Given the description of an element on the screen output the (x, y) to click on. 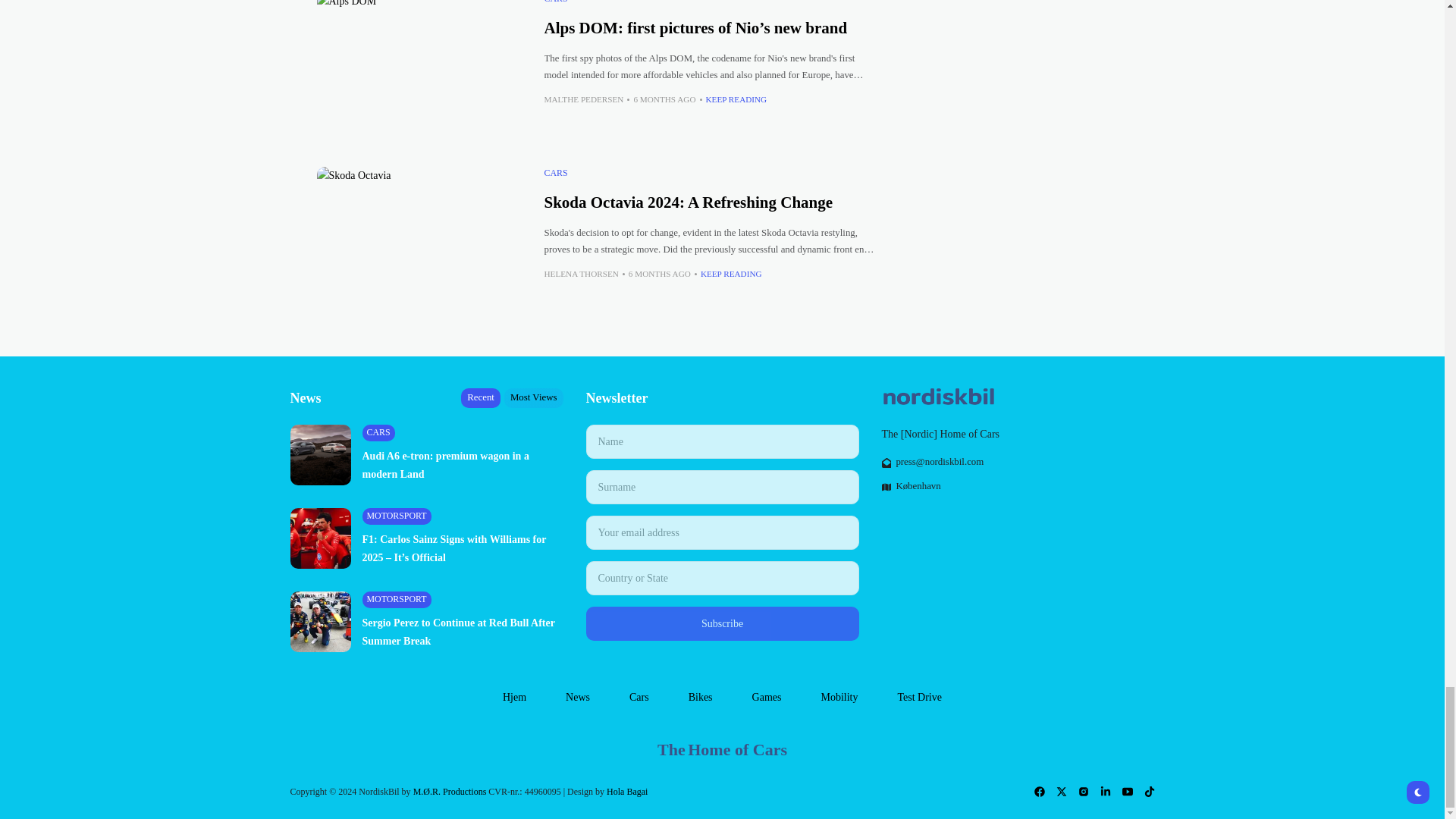
Subscribe (722, 623)
